Given the description of an element on the screen output the (x, y) to click on. 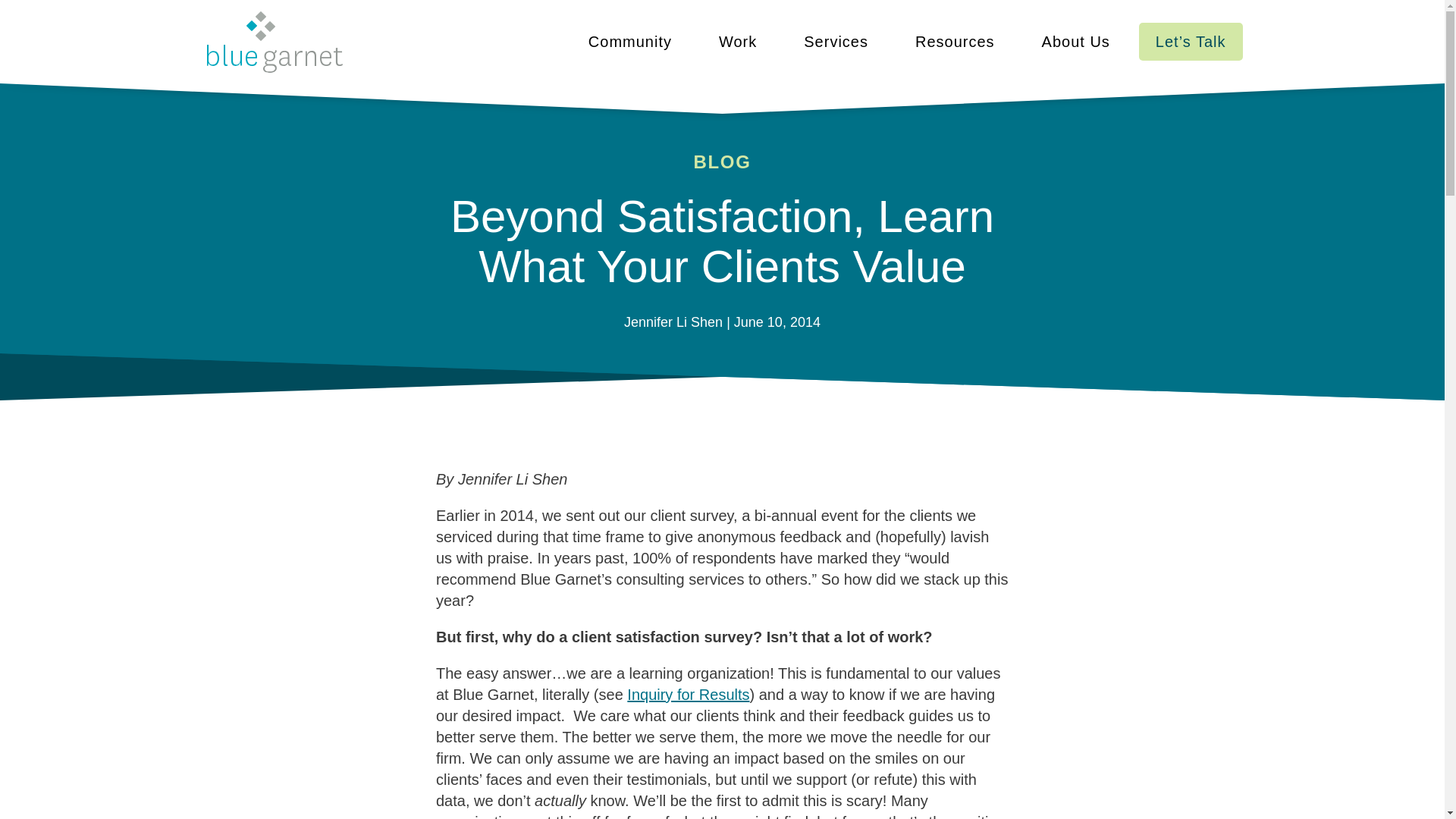
BLOG (722, 161)
Services (835, 41)
Community (629, 41)
Inquiry for Results (688, 694)
Resources (955, 41)
Work (737, 41)
About Us (1075, 41)
